Given the description of an element on the screen output the (x, y) to click on. 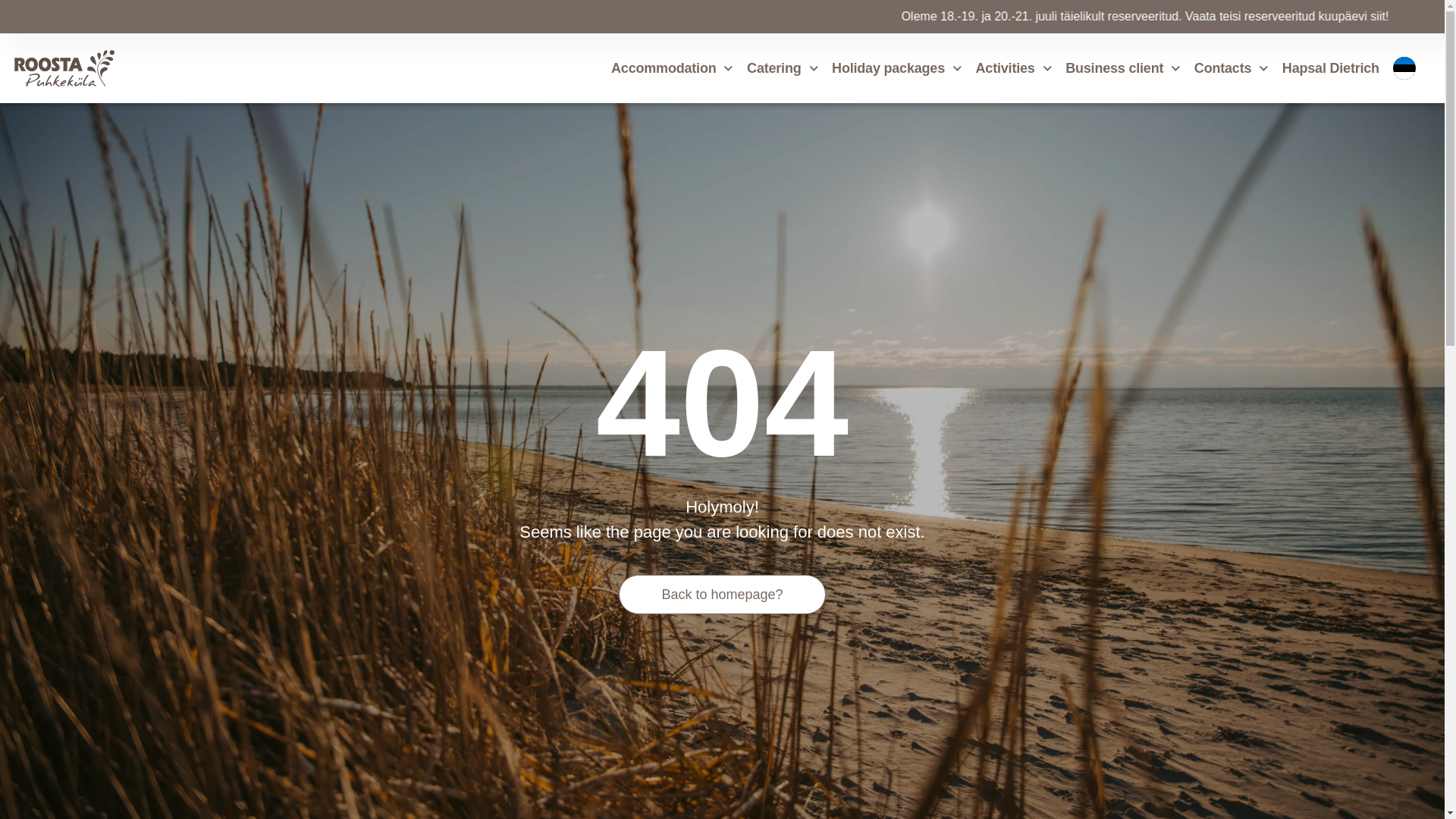
Accommodation (672, 68)
Contacts (1230, 68)
Hapsal Dietrich (1330, 68)
Business client (1122, 68)
Holiday packages (895, 68)
Catering (782, 68)
Activities (1013, 68)
